Given the description of an element on the screen output the (x, y) to click on. 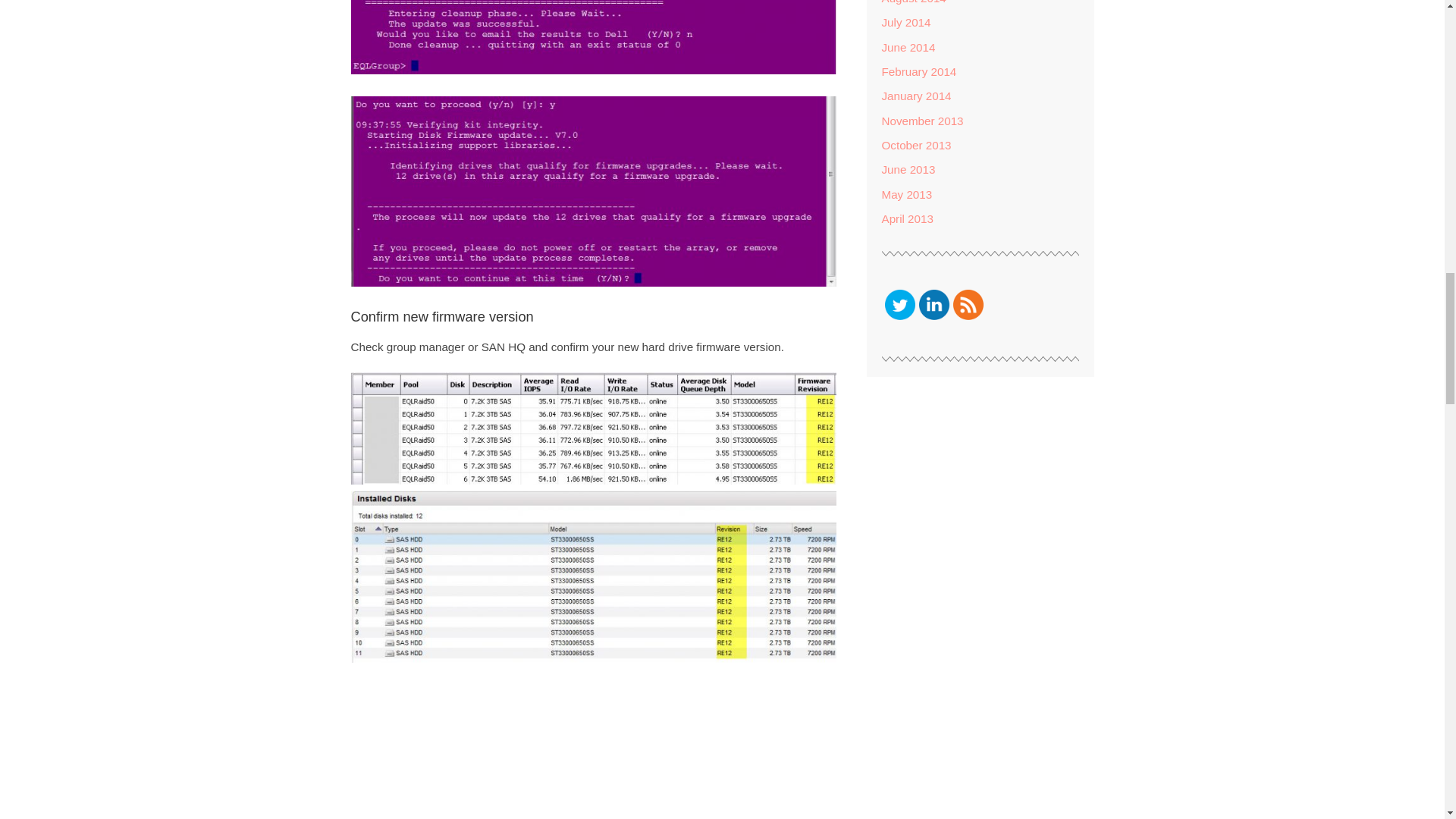
LinkedIn (933, 304)
Twitter (898, 304)
RSS (967, 304)
